Given the description of an element on the screen output the (x, y) to click on. 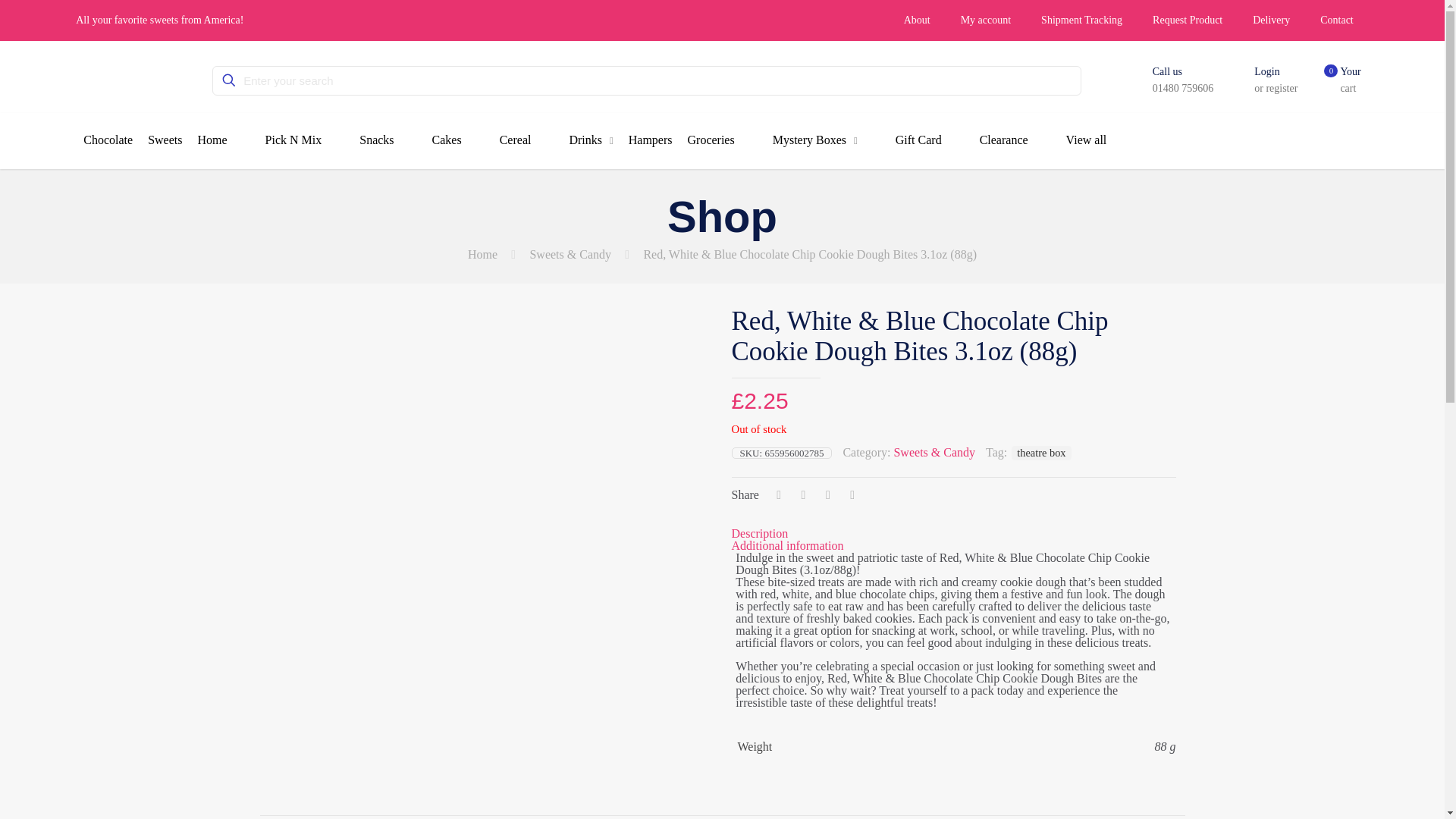
About (916, 20)
My account (985, 20)
Shipment Tracking (1081, 20)
Request Product (1187, 20)
Delivery (1270, 20)
Contact (1336, 20)
